Given the description of an element on the screen output the (x, y) to click on. 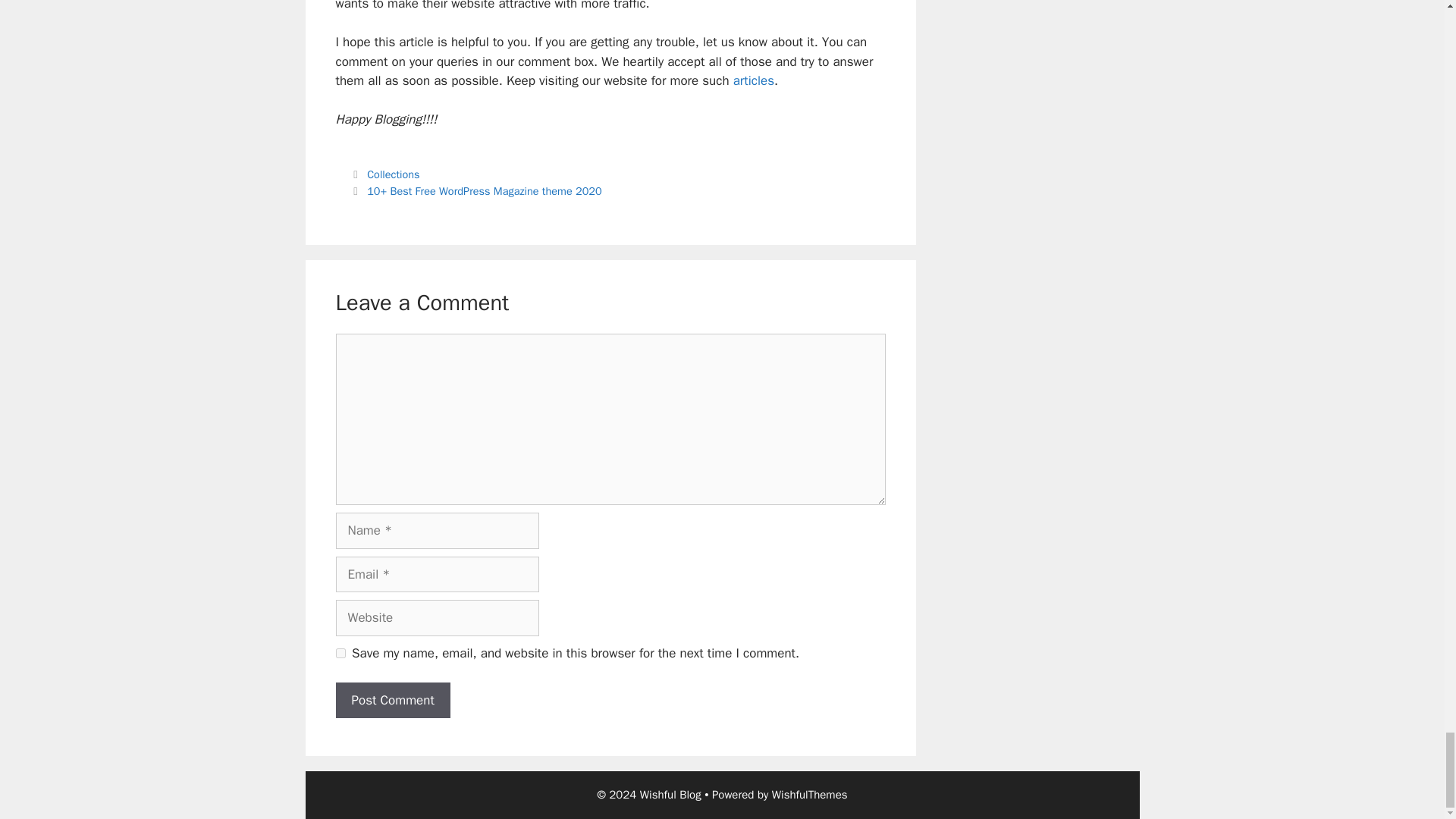
yes (339, 653)
Post Comment (391, 700)
WishfulThemes (809, 794)
Collections (392, 173)
articles (753, 80)
Post Comment (391, 700)
